Given the description of an element on the screen output the (x, y) to click on. 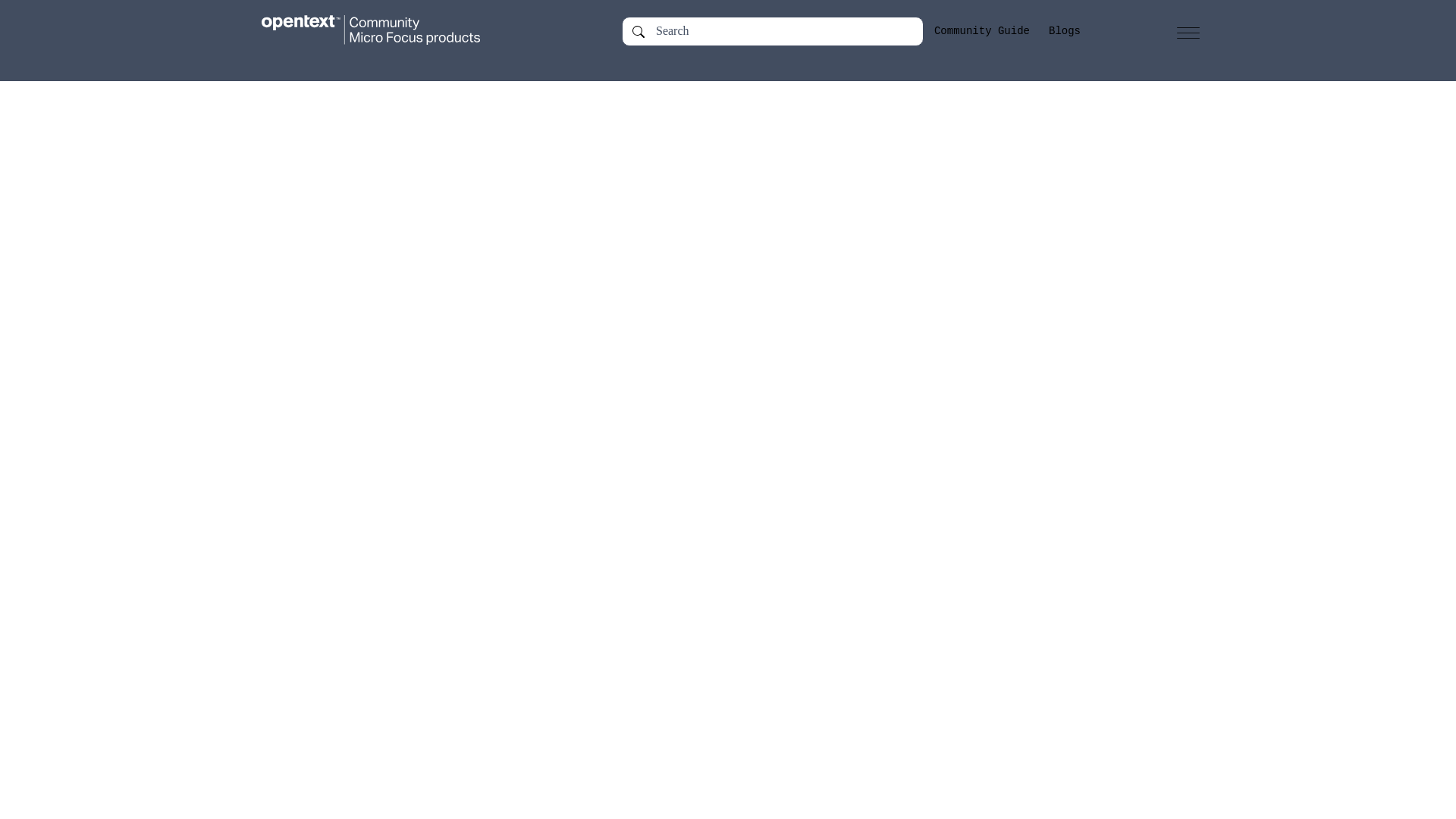
Home (385, 30)
Blogs (1064, 31)
Community Guide (981, 31)
